Given the description of an element on the screen output the (x, y) to click on. 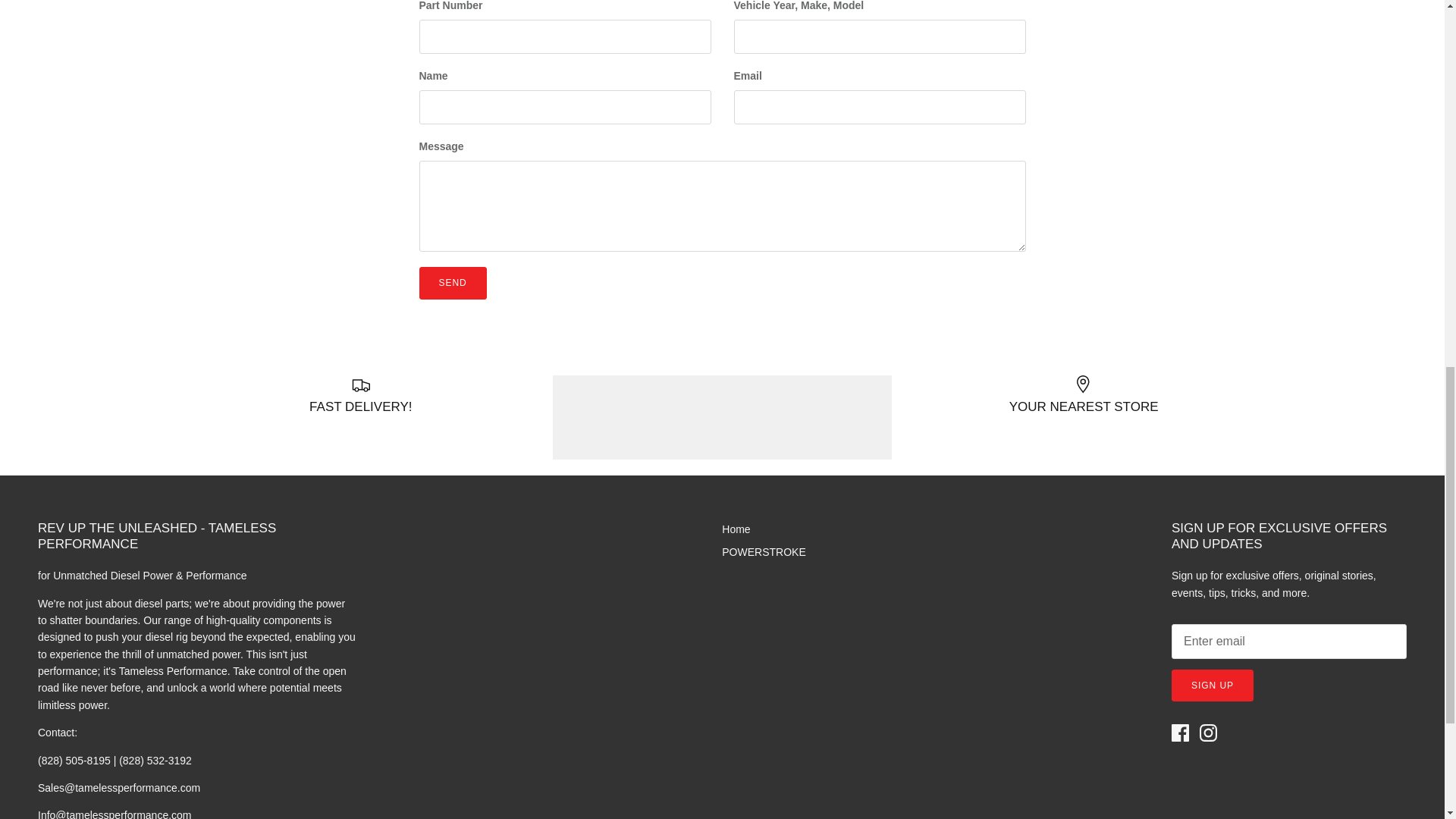
tel:8285058195 (114, 760)
Instagram (1208, 732)
Facebook (1180, 732)
